Given the description of an element on the screen output the (x, y) to click on. 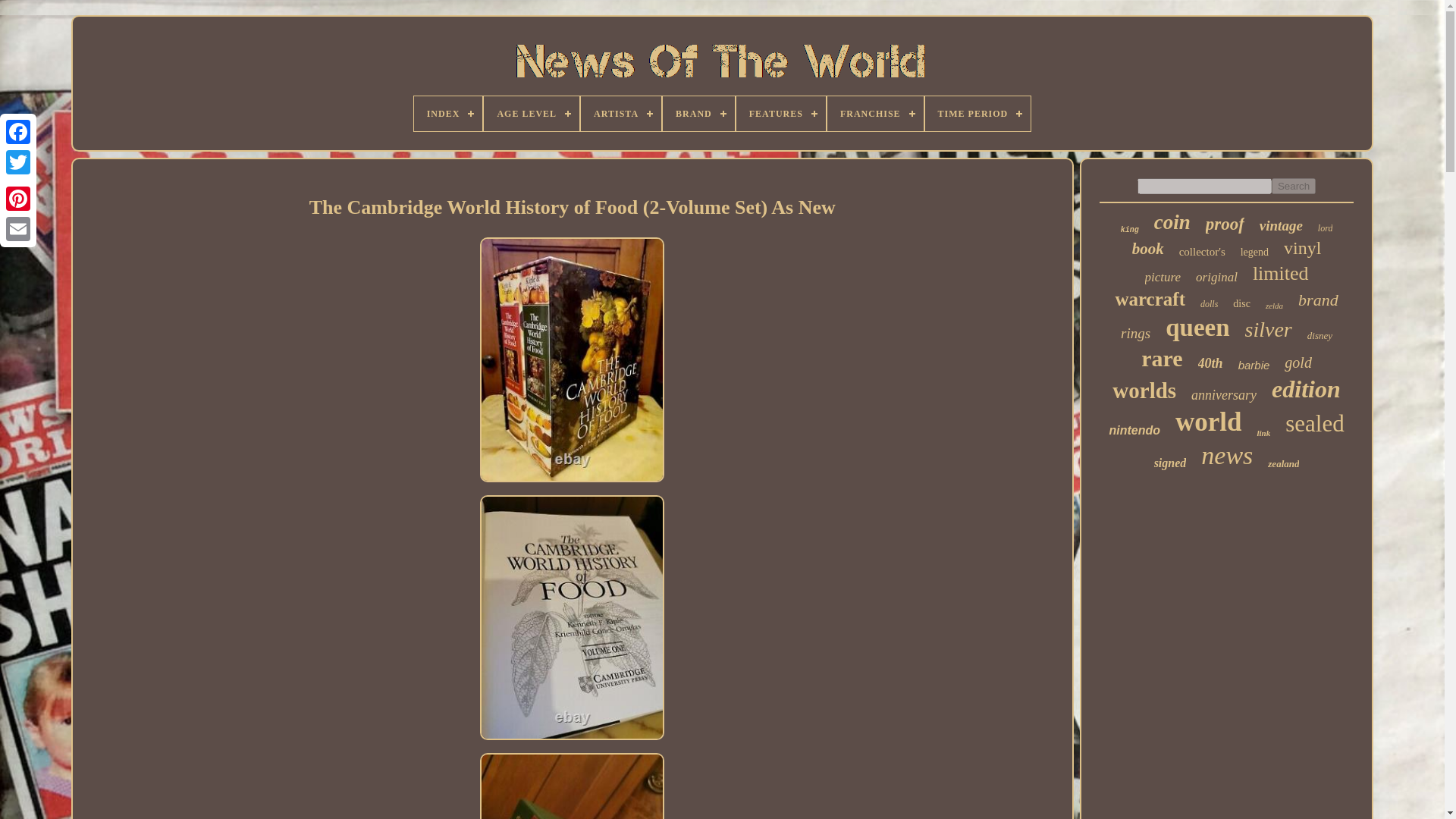
BRAND (698, 113)
Email (17, 228)
AGE LEVEL (531, 113)
Search (1293, 186)
INDEX (448, 113)
ARTISTA (620, 113)
